Given the description of an element on the screen output the (x, y) to click on. 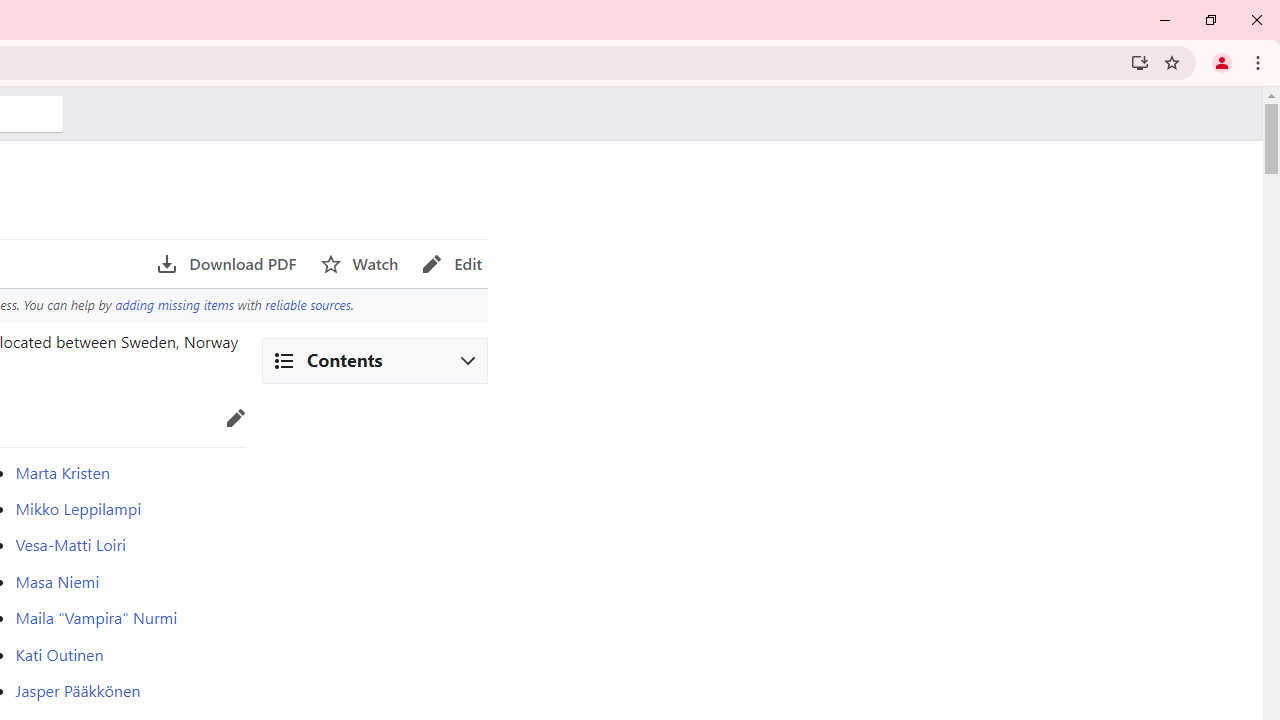
AutomationID: minerva-download (226, 263)
Vesa-Matti Loiri (70, 544)
AutomationID: page-actions-edit (452, 263)
edit (235, 418)
adding missing items (174, 304)
Kati Outinen (59, 653)
Edit (452, 264)
